Given the description of an element on the screen output the (x, y) to click on. 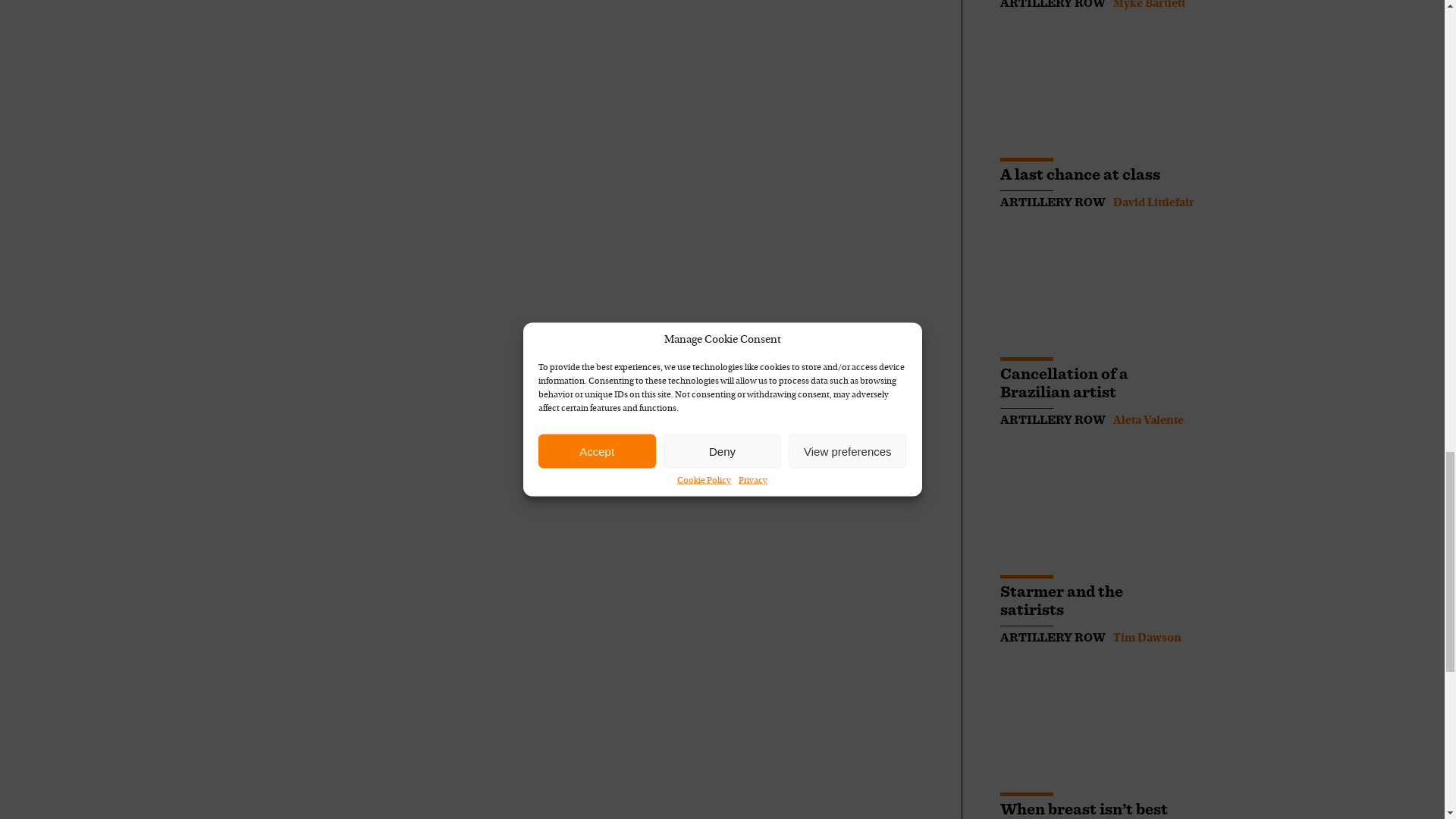
Posts by David Littlefair (1153, 203)
Posts by Myke Bartlett (1149, 4)
Posts by Aleta Valente (1148, 420)
Posts by Tim Dawson (1146, 638)
